Given the description of an element on the screen output the (x, y) to click on. 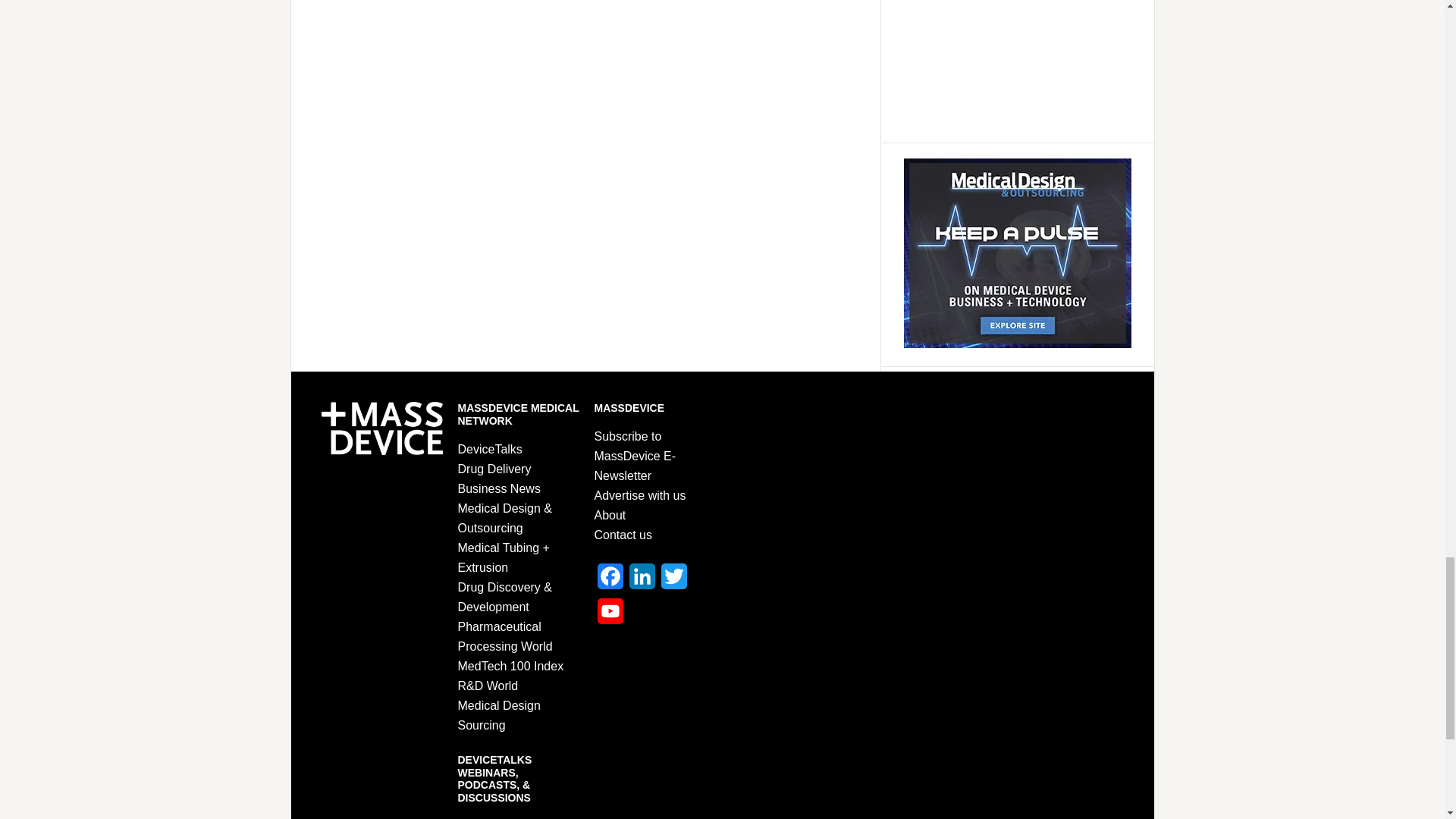
3rd party ad content (1010, 63)
Twitter (674, 580)
Facebook (610, 580)
YouTube Channel (610, 615)
LinkedIn Company (642, 580)
